Given the description of an element on the screen output the (x, y) to click on. 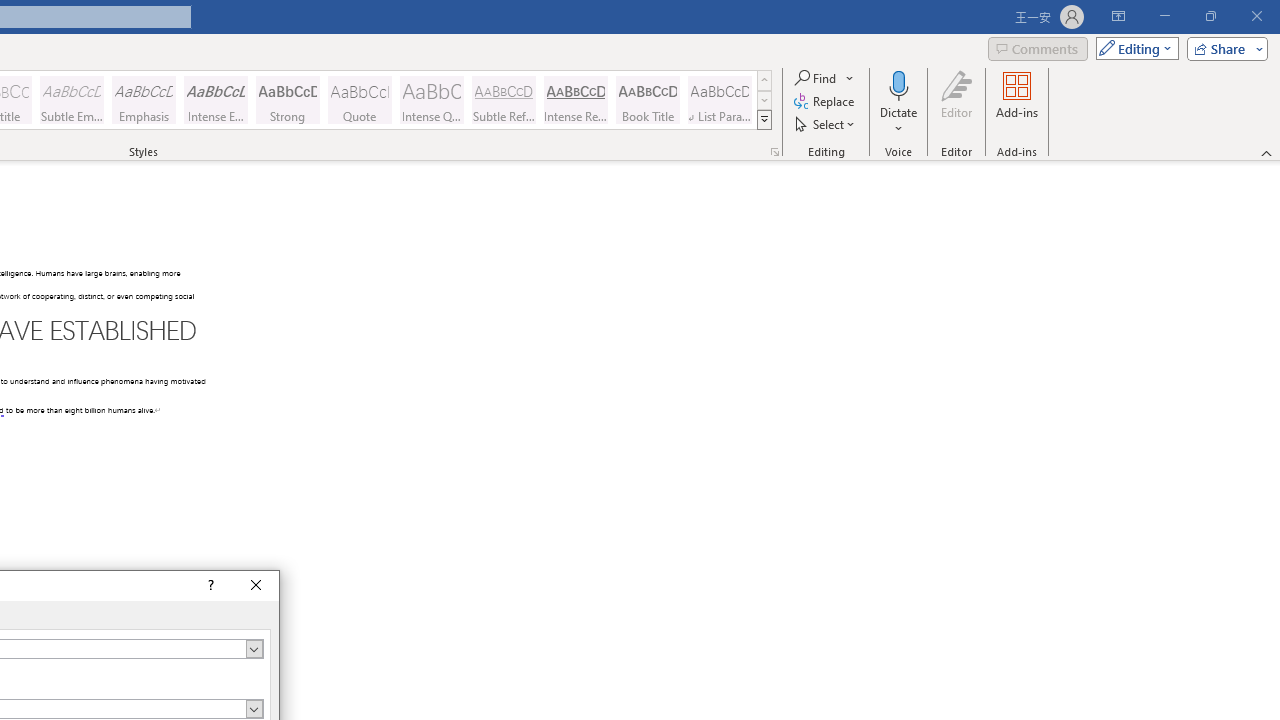
Styles (763, 120)
Intense Emphasis (216, 100)
Subtle Emphasis (71, 100)
Subtle Reference (504, 100)
Emphasis (143, 100)
Styles... (774, 151)
Replace... (826, 101)
Context help (208, 585)
Intense Reference (575, 100)
Row up (763, 79)
